Given the description of an element on the screen output the (x, y) to click on. 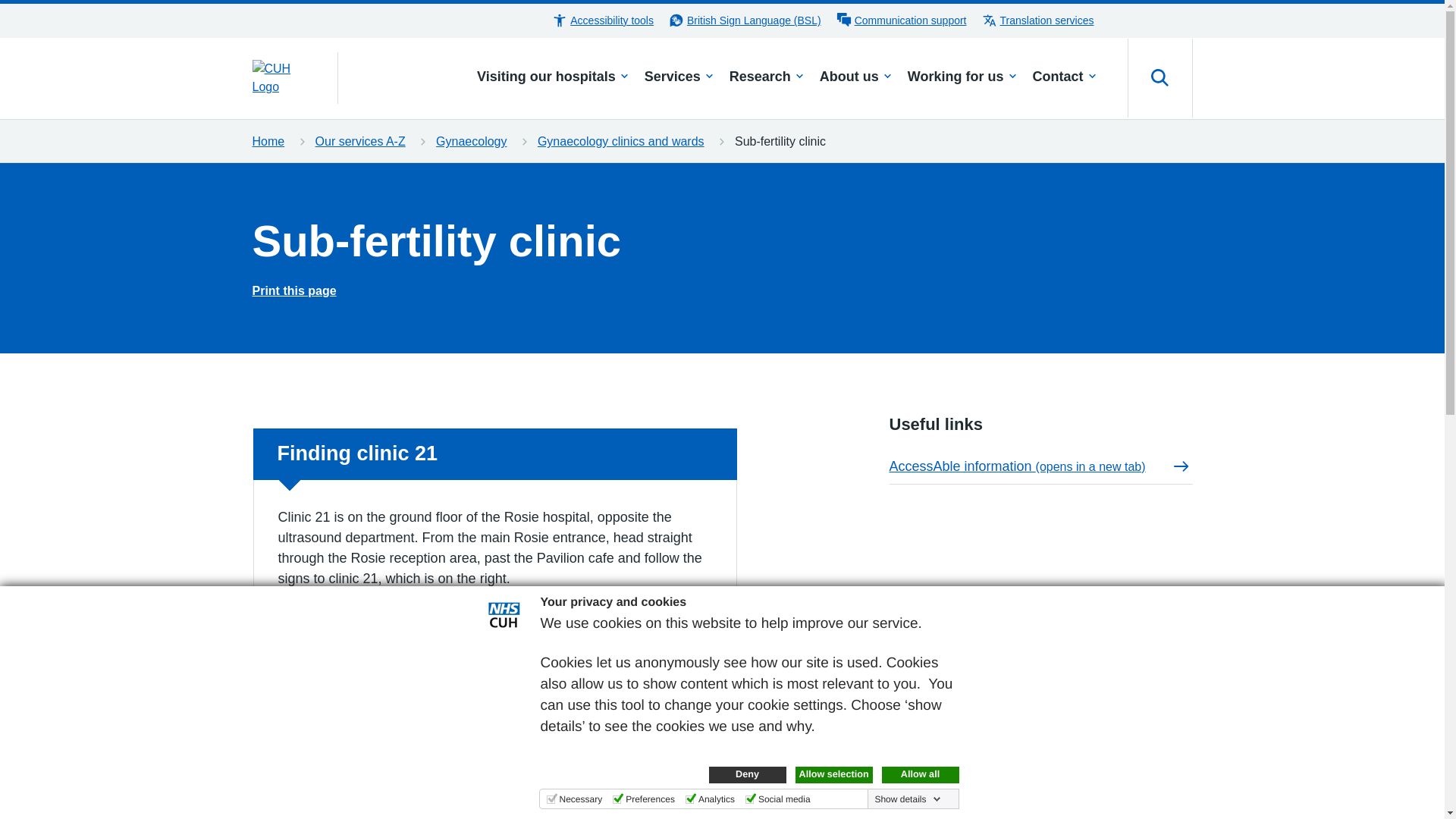
Deny (746, 774)
Allow selection (833, 774)
Allow all (919, 774)
Show details (906, 799)
